Given the description of an element on the screen output the (x, y) to click on. 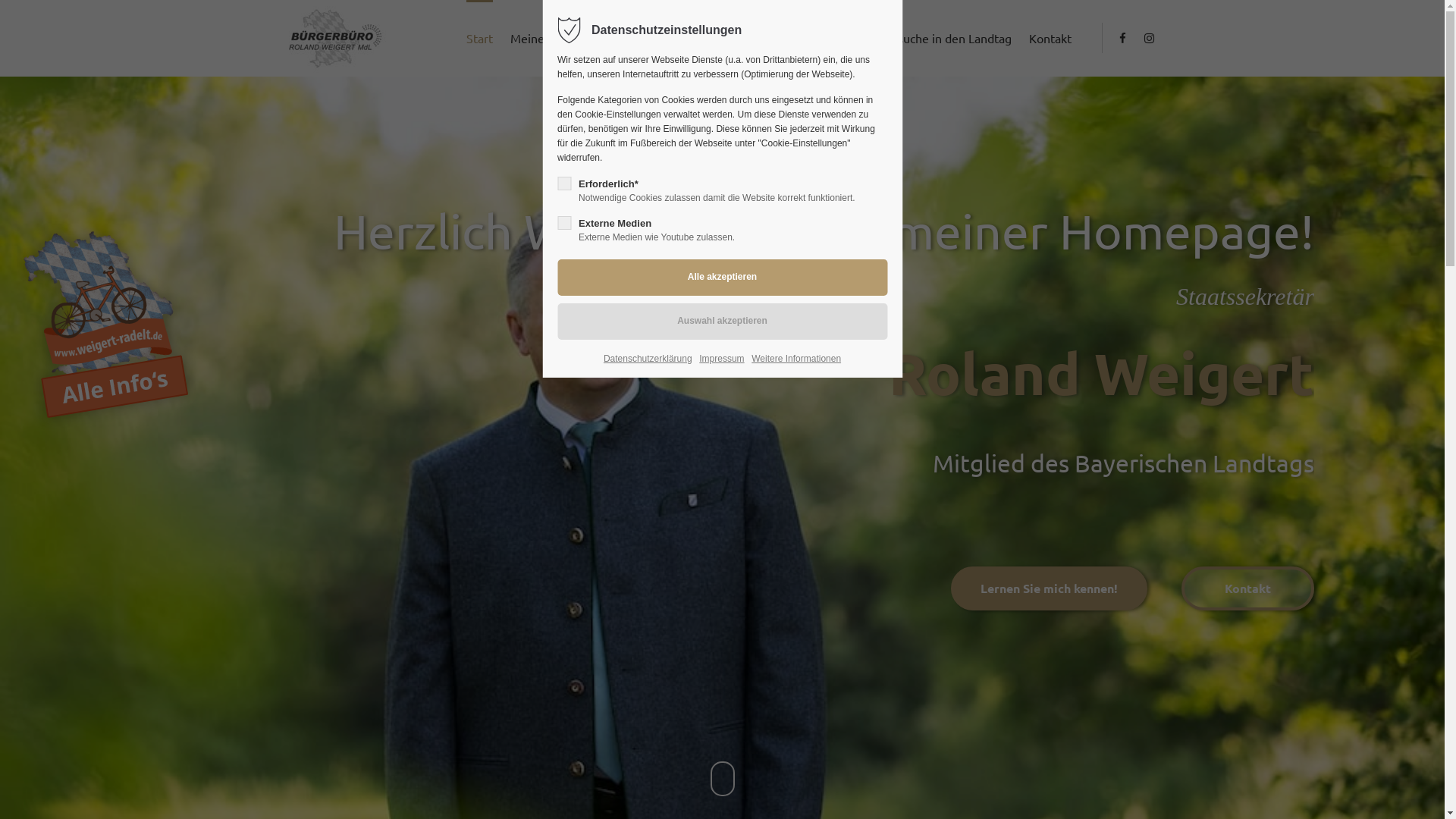
Start Element type: text (478, 37)
Besuche in den Landtag Element type: text (946, 37)
Auswahl akzeptieren Element type: text (722, 321)
Meine Person Element type: text (546, 37)
Weitere Informationen Element type: text (795, 358)
Impressum Element type: text (721, 358)
Lernen Sie mich kennen! Element type: text (1048, 588)
Meine Politik Element type: text (637, 37)
Kontakt Element type: text (1049, 37)
Kontakt Element type: text (1247, 588)
Alle akzeptieren Element type: text (722, 277)
